Given the description of an element on the screen output the (x, y) to click on. 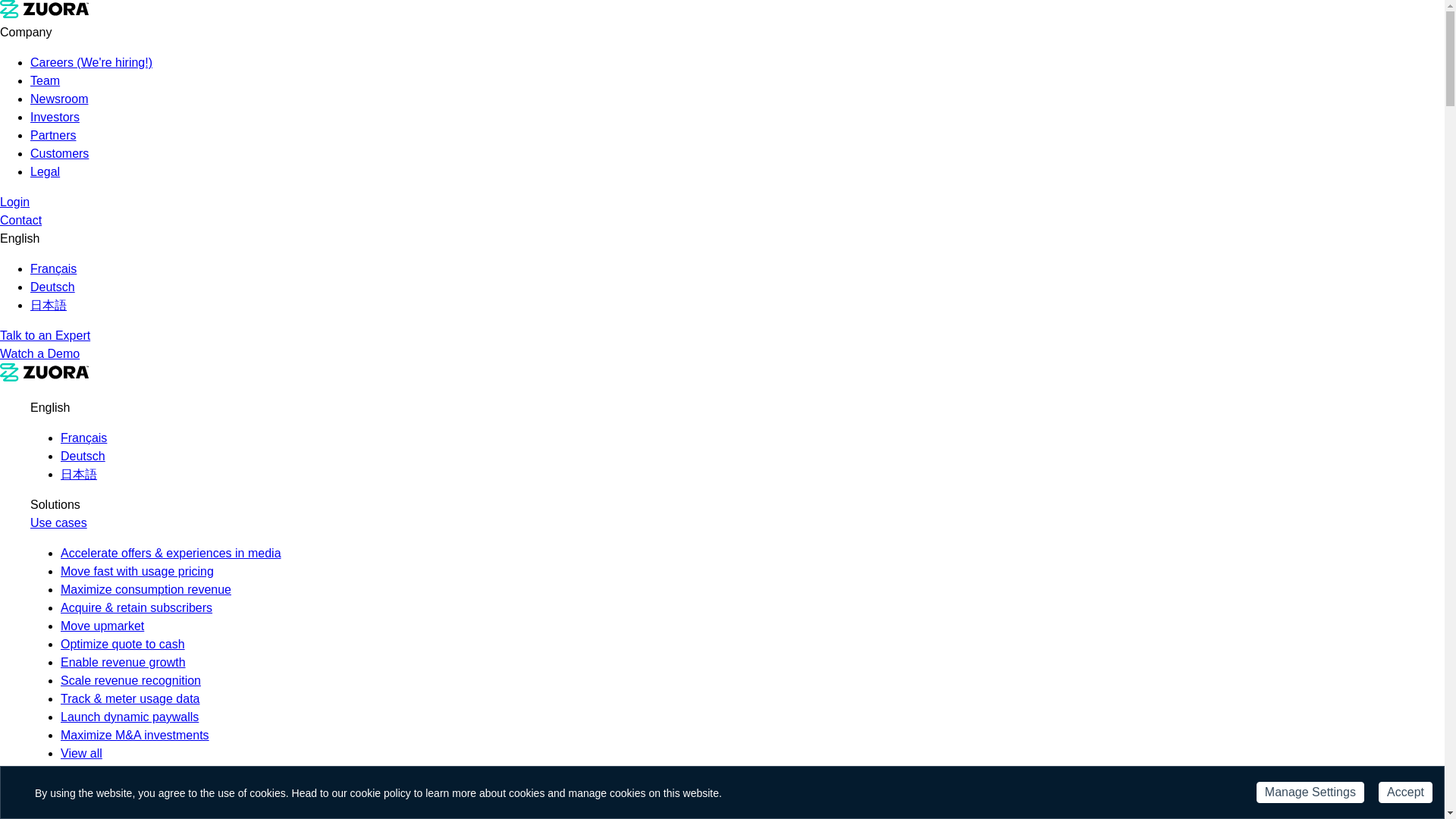
cookie policy (380, 793)
Accept (1405, 792)
Manage Settings (1310, 792)
